Given the description of an element on the screen output the (x, y) to click on. 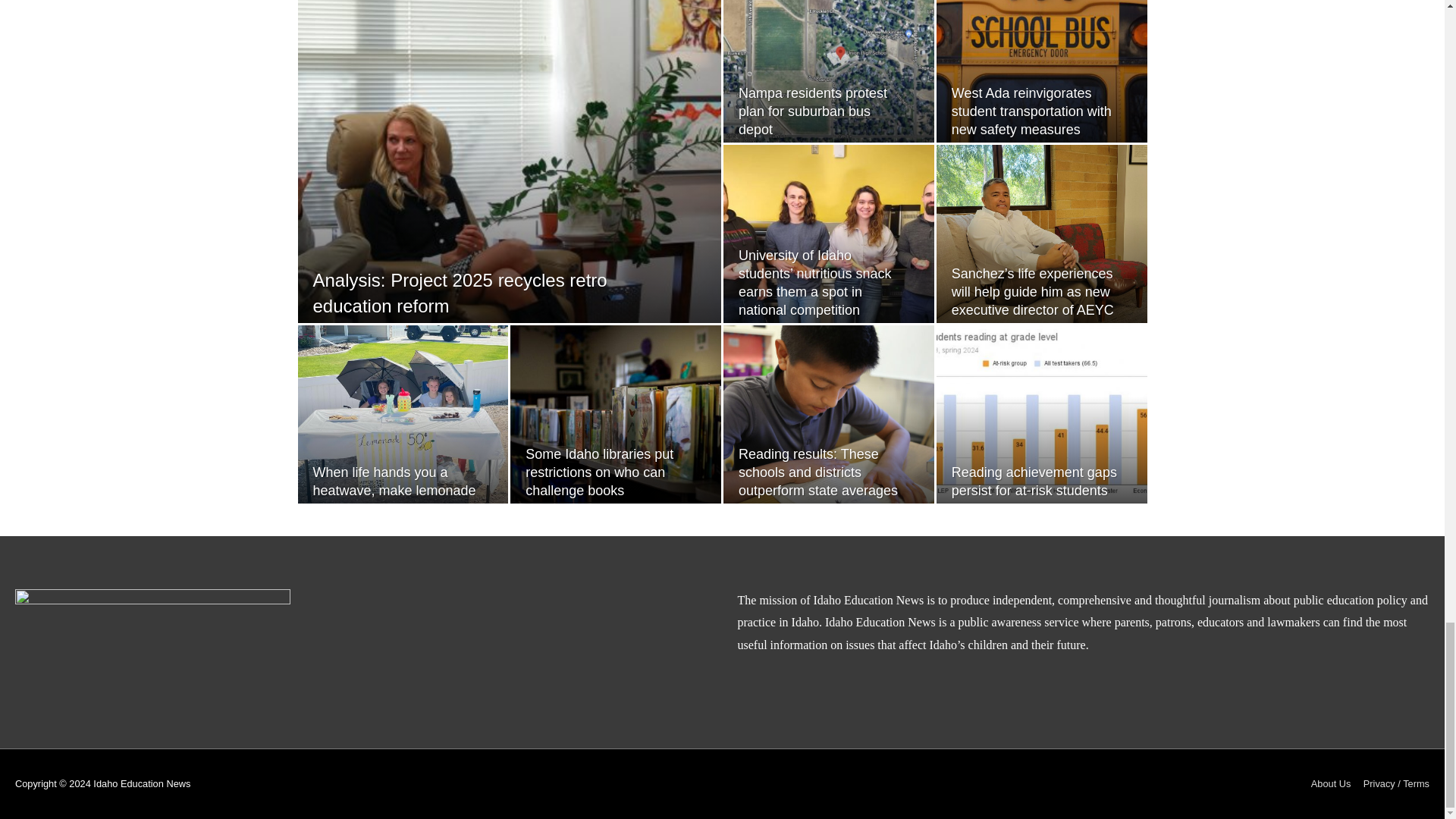
When life hands you a heatwave, make lemonade (394, 481)
Nampa residents protest plan for suburban bus depot (812, 111)
Analysis: Project 2025 recycles retro education reform (460, 293)
